Given the description of an element on the screen output the (x, y) to click on. 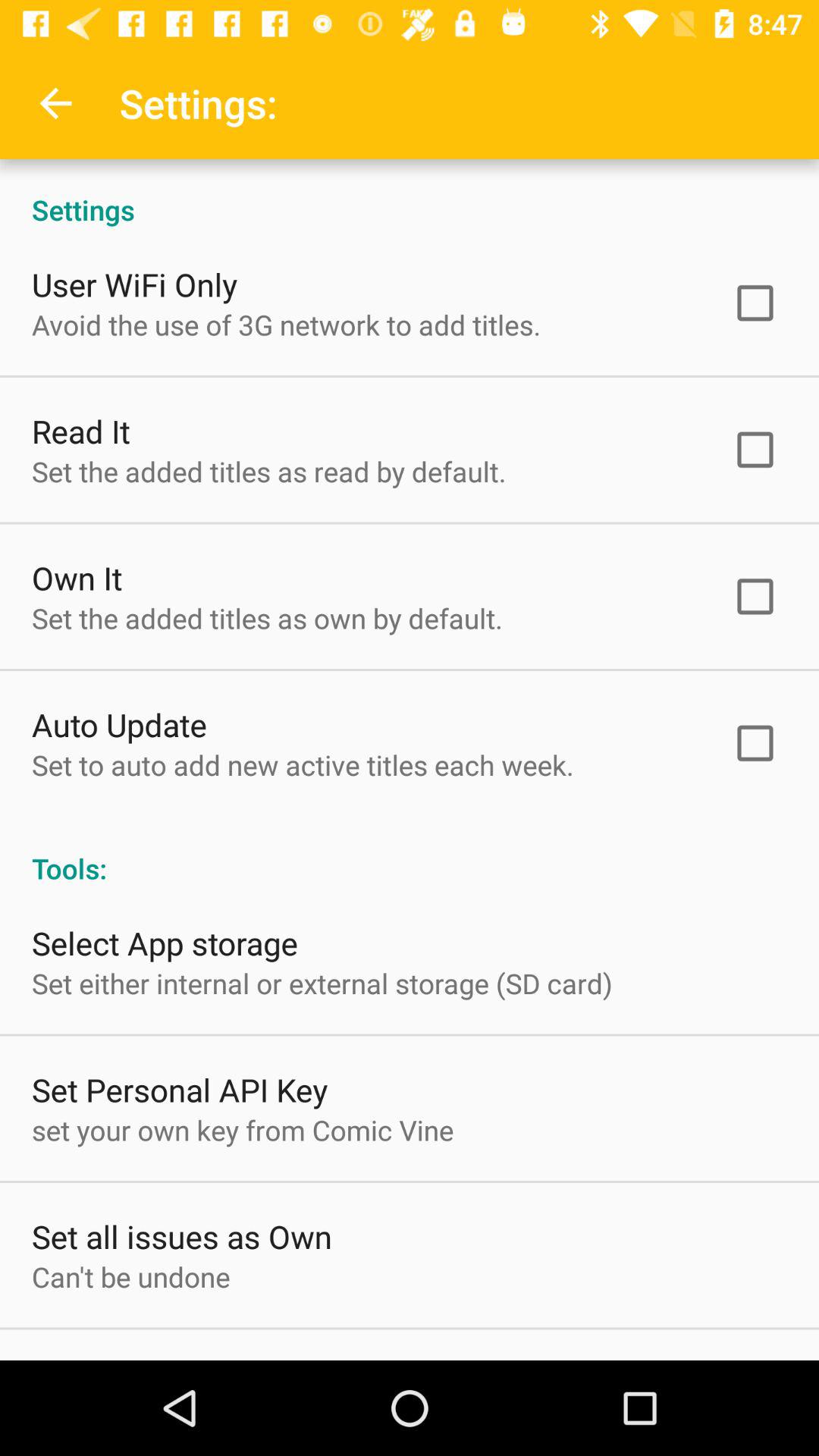
click the item below the set your own (181, 1236)
